Given the description of an element on the screen output the (x, y) to click on. 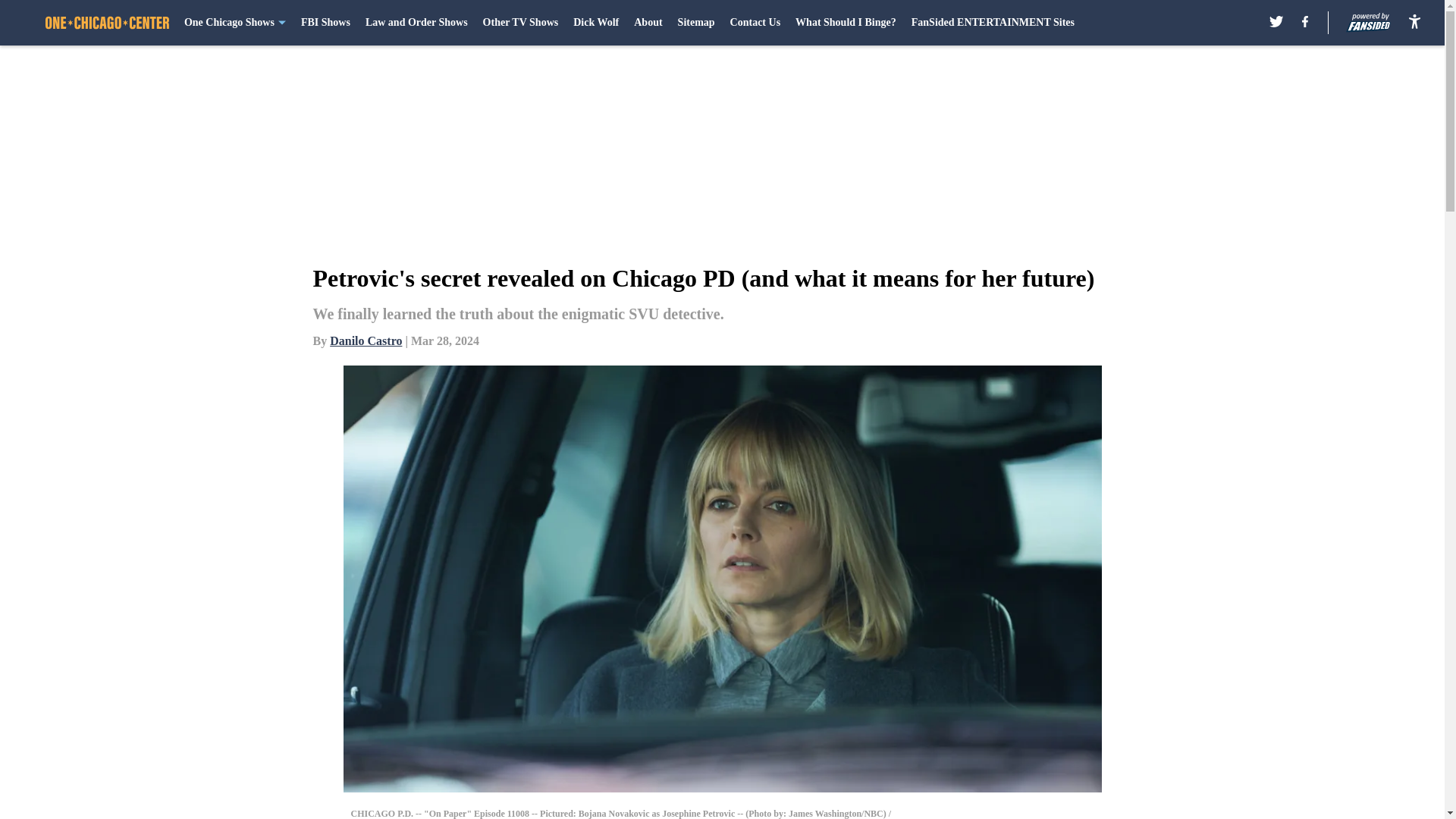
Danilo Castro (365, 340)
Dick Wolf (595, 22)
Law and Order Shows (416, 22)
FanSided ENTERTAINMENT Sites (992, 22)
Other TV Shows (521, 22)
Contact Us (755, 22)
Sitemap (696, 22)
About (647, 22)
What Should I Binge? (845, 22)
FBI Shows (325, 22)
